Given the description of an element on the screen output the (x, y) to click on. 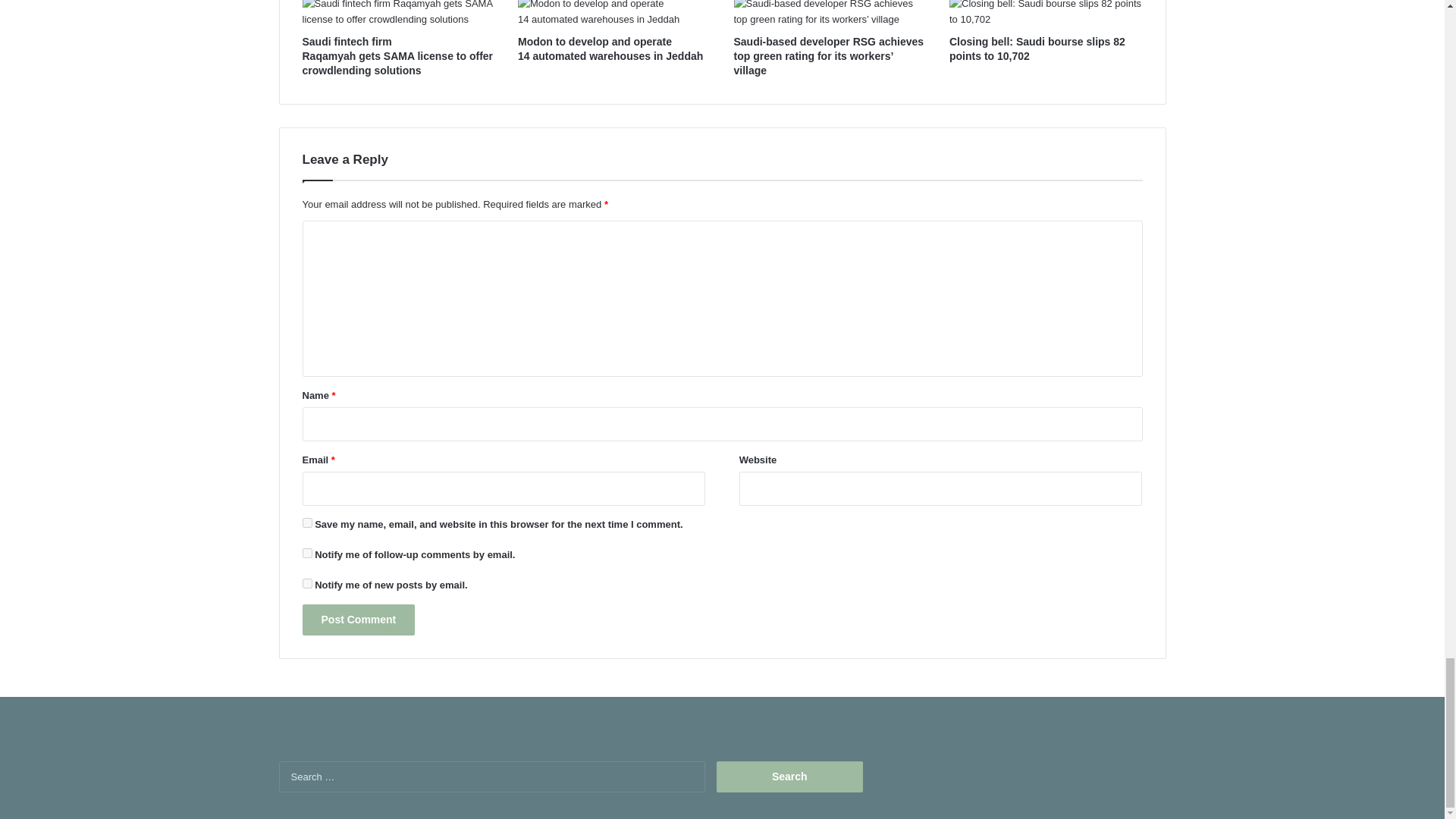
subscribe (306, 552)
yes (306, 522)
Search (789, 776)
Post Comment (357, 619)
Search (789, 776)
subscribe (306, 583)
